Given the description of an element on the screen output the (x, y) to click on. 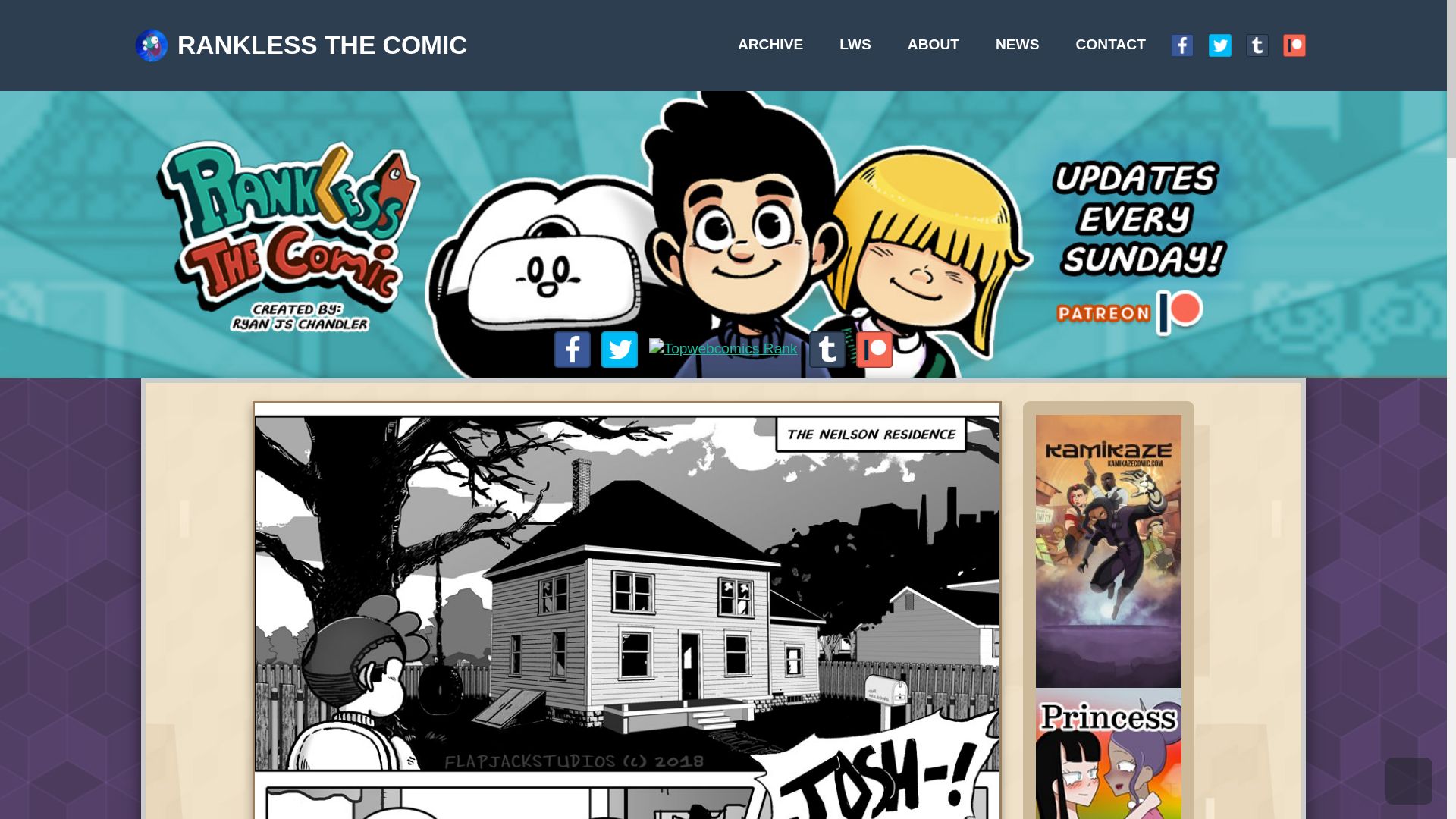
RANKLESS THE COMIC (251, 37)
LWS (712, 37)
Rankless Comic Archive (641, 37)
ABOUT (777, 37)
NEWS (846, 37)
Living With Stacy Comic (712, 37)
Vote for New Flipside University on TopWebComics! (603, 290)
ARCHIVE (641, 37)
About the Comic Rankless (777, 37)
CONTACT (924, 37)
